Given the description of an element on the screen output the (x, y) to click on. 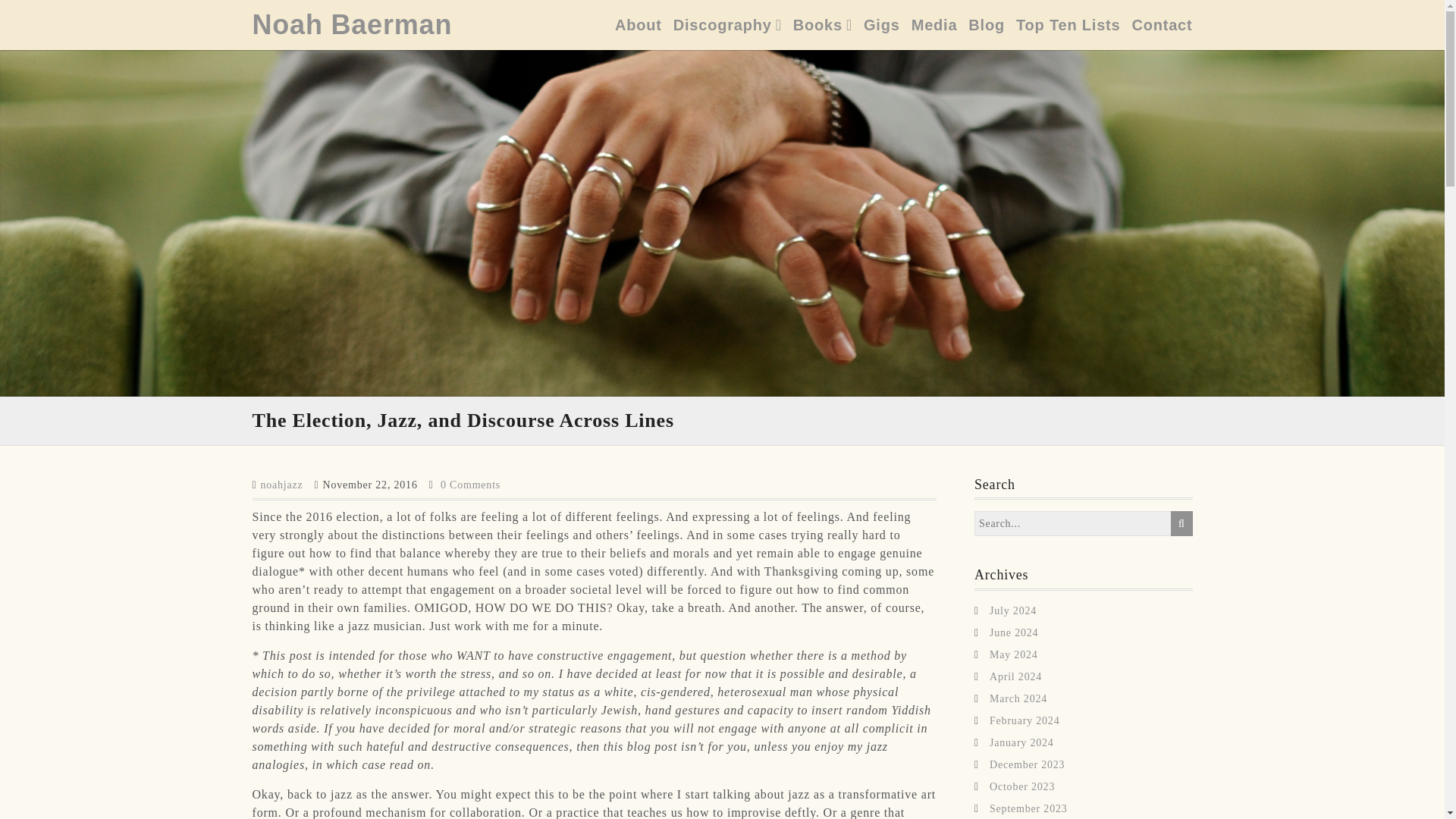
Noah Baerman (351, 24)
Media (934, 24)
About (638, 24)
Discography (726, 24)
Top Ten Lists (1067, 24)
Books (822, 24)
Contact (1161, 24)
Blog (986, 24)
Gigs (881, 24)
